Given the description of an element on the screen output the (x, y) to click on. 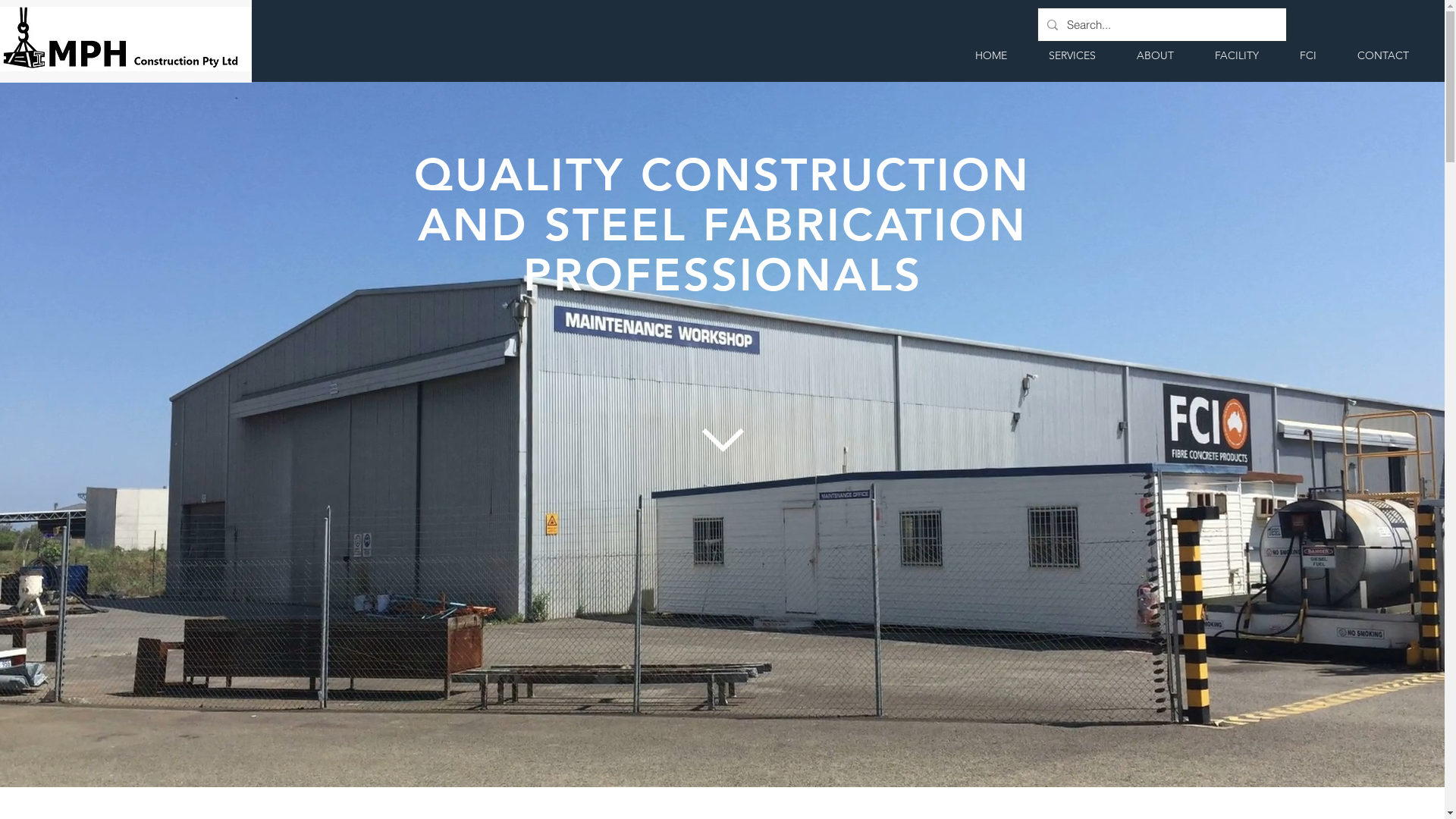
SERVICES Element type: text (1071, 55)
FACILITY Element type: text (1236, 55)
ABOUT Element type: text (1155, 55)
CONTACT Element type: text (1382, 55)
HOME Element type: text (990, 55)
FCI Element type: text (1307, 55)
